Given the description of an element on the screen output the (x, y) to click on. 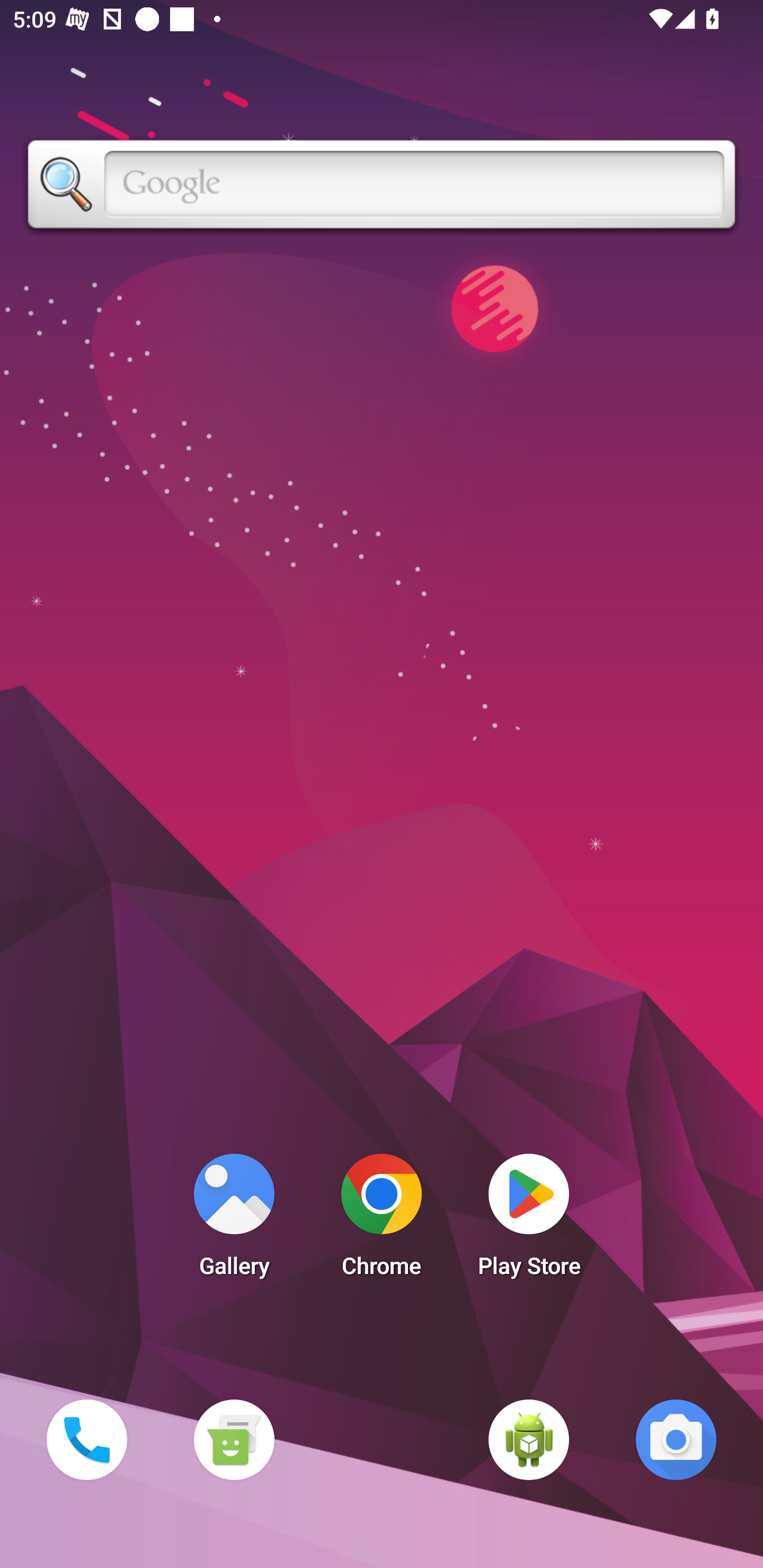
Gallery (233, 1220)
Chrome (381, 1220)
Play Store (528, 1220)
Phone (86, 1439)
Messaging (233, 1439)
WebView Browser Tester (528, 1439)
Camera (676, 1439)
